Given the description of an element on the screen output the (x, y) to click on. 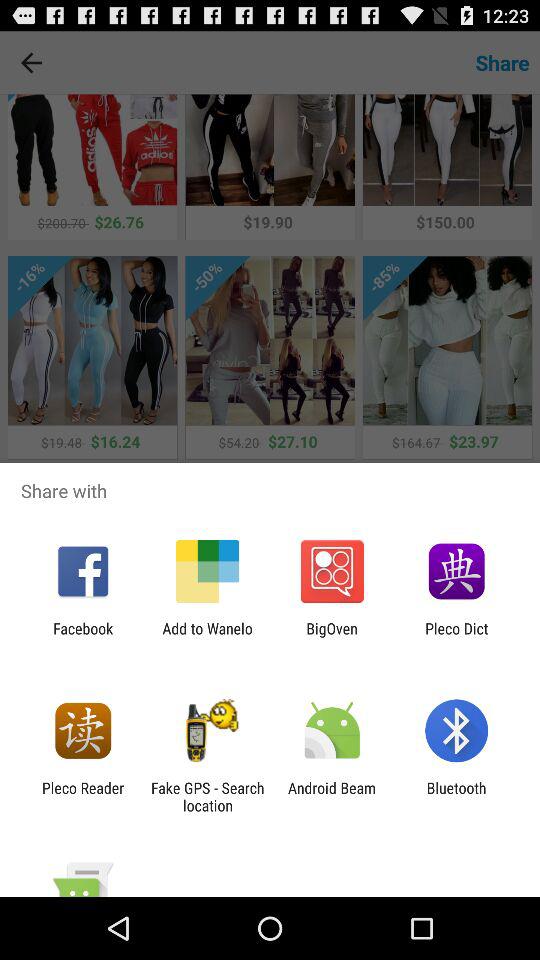
choose the icon to the left of android beam icon (207, 796)
